Given the description of an element on the screen output the (x, y) to click on. 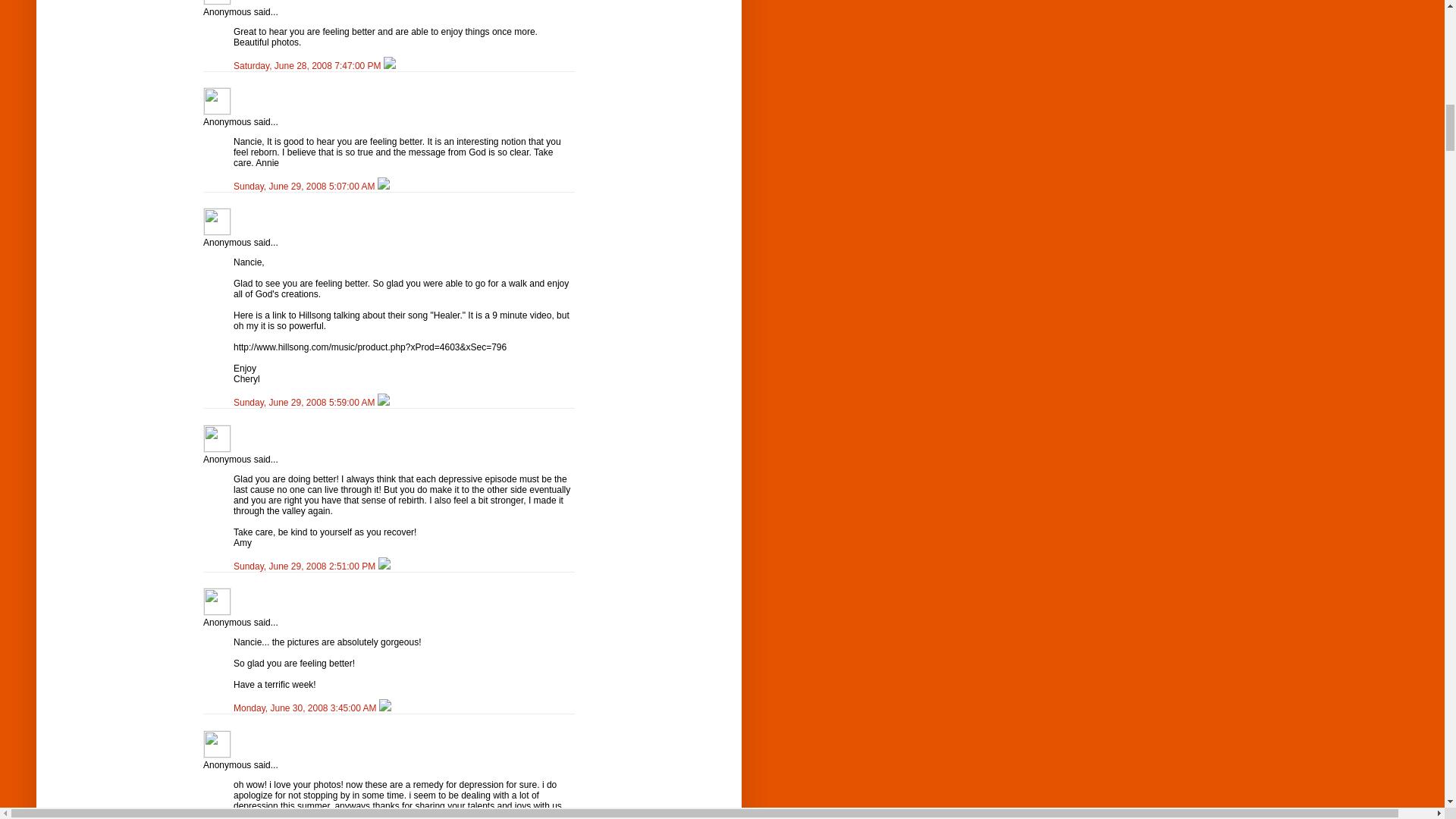
Delete Comment (390, 65)
Monday, June 30, 2008 3:45:00 AM (305, 707)
Delete Comment (383, 185)
Anonymous (217, 100)
Sunday, June 29, 2008 5:59:00 AM (304, 402)
Anonymous (217, 2)
Anonymous (217, 221)
Delete Comment (383, 402)
comment permalink (304, 402)
comment permalink (308, 65)
Sunday, June 29, 2008 5:07:00 AM (304, 185)
Anonymous (217, 438)
comment permalink (304, 185)
Saturday, June 28, 2008 7:47:00 PM (308, 65)
Sunday, June 29, 2008 2:51:00 PM (305, 566)
